Given the description of an element on the screen output the (x, y) to click on. 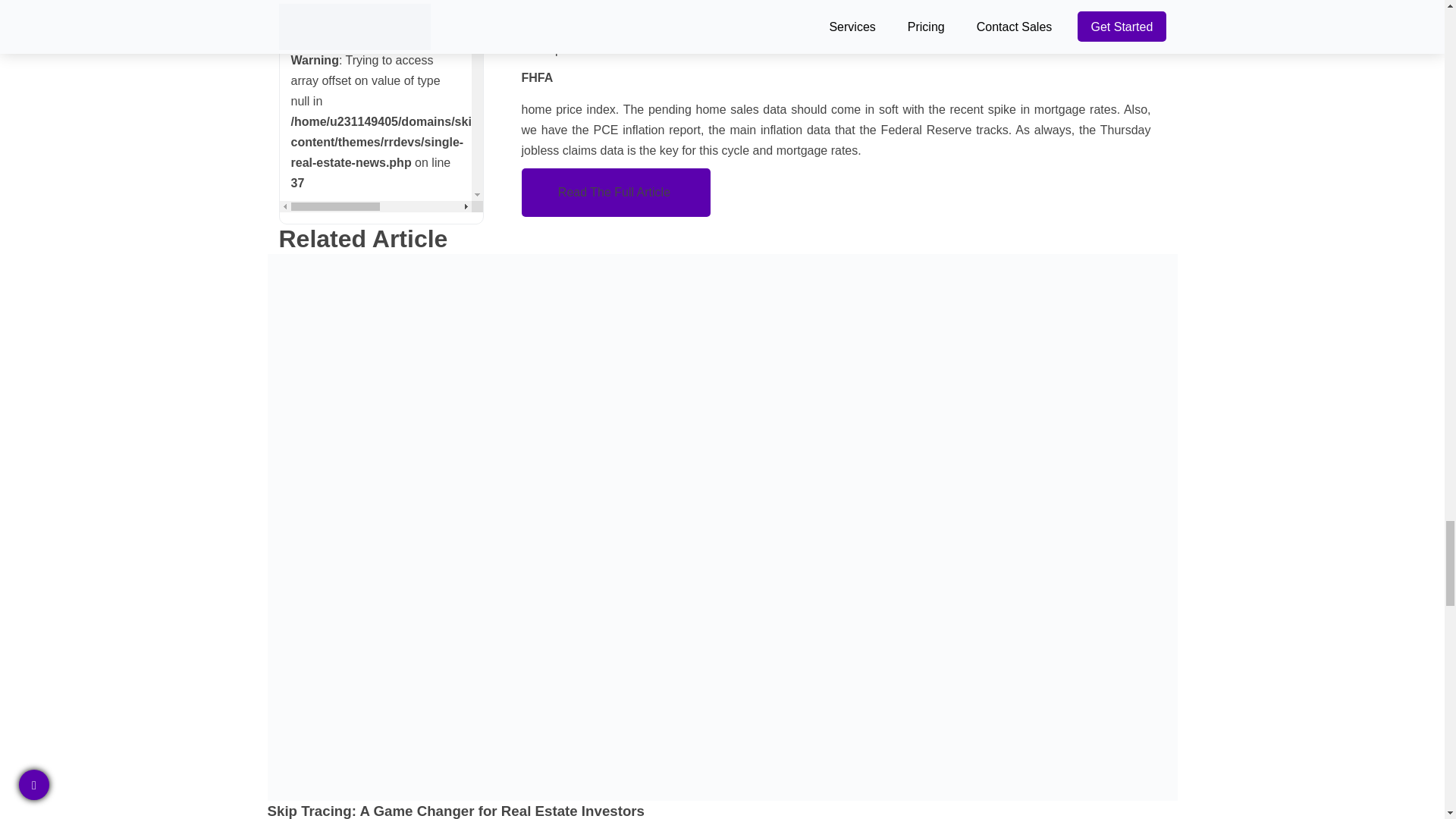
Read The Full Article (615, 192)
Skip Tracing: A Game Changer for Real Estate Investors (721, 809)
